Given the description of an element on the screen output the (x, y) to click on. 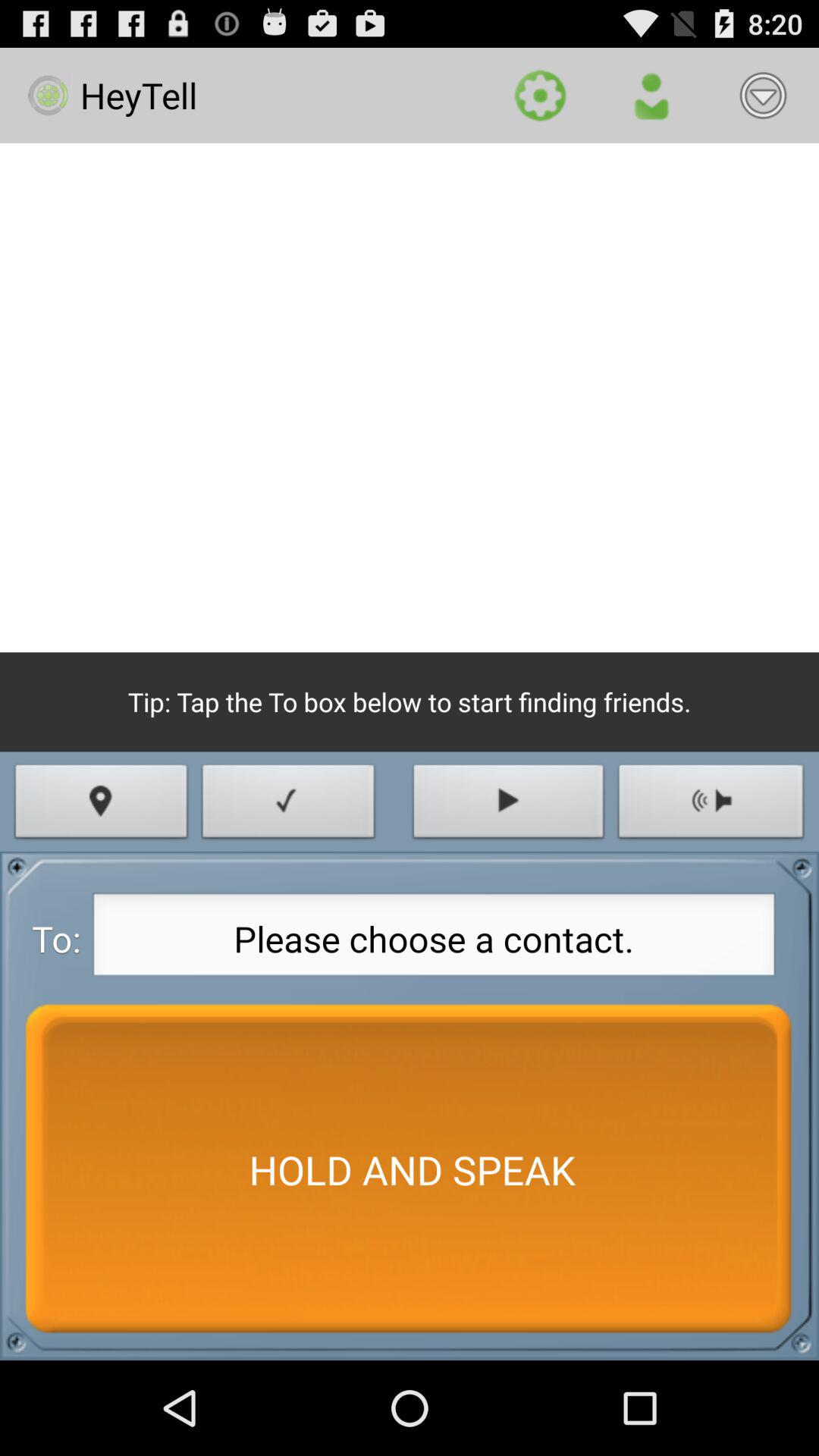
turn on icon on the right (711, 805)
